Given the description of an element on the screen output the (x, y) to click on. 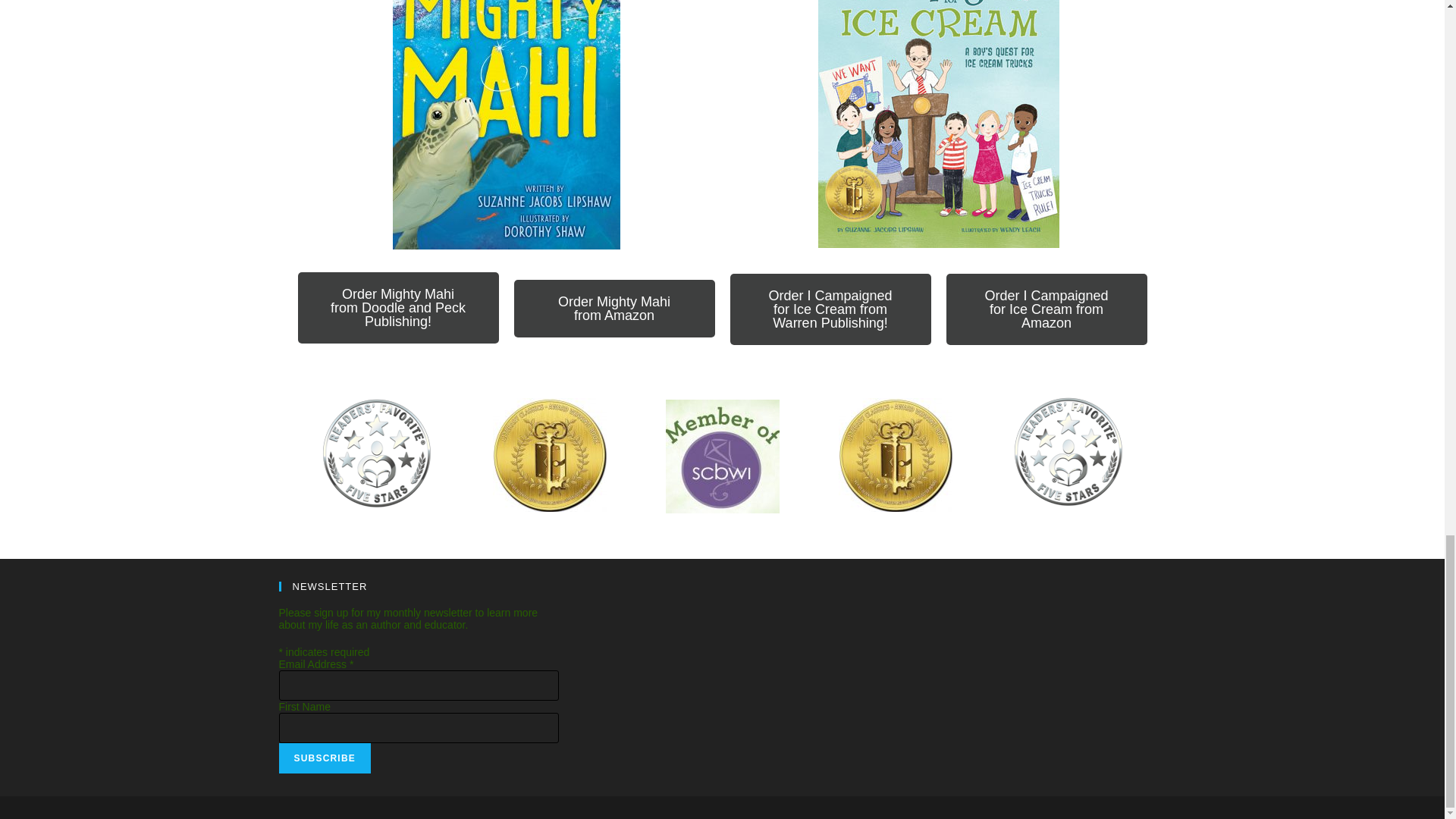
Order I Campaigned for Ice Cream from Warren Publishing! (829, 308)
Order Mighty Mahi from Doodle and Peck Publishing! (397, 307)
Mighty-Mahi-Cover-Hi-Res-1 (506, 124)
Subscribe (325, 757)
Order Mighty Mahi from Amazon (613, 308)
Order I Campaigned for Ice Cream from Amazon (1046, 308)
Subscribe (325, 757)
